Given the description of an element on the screen output the (x, y) to click on. 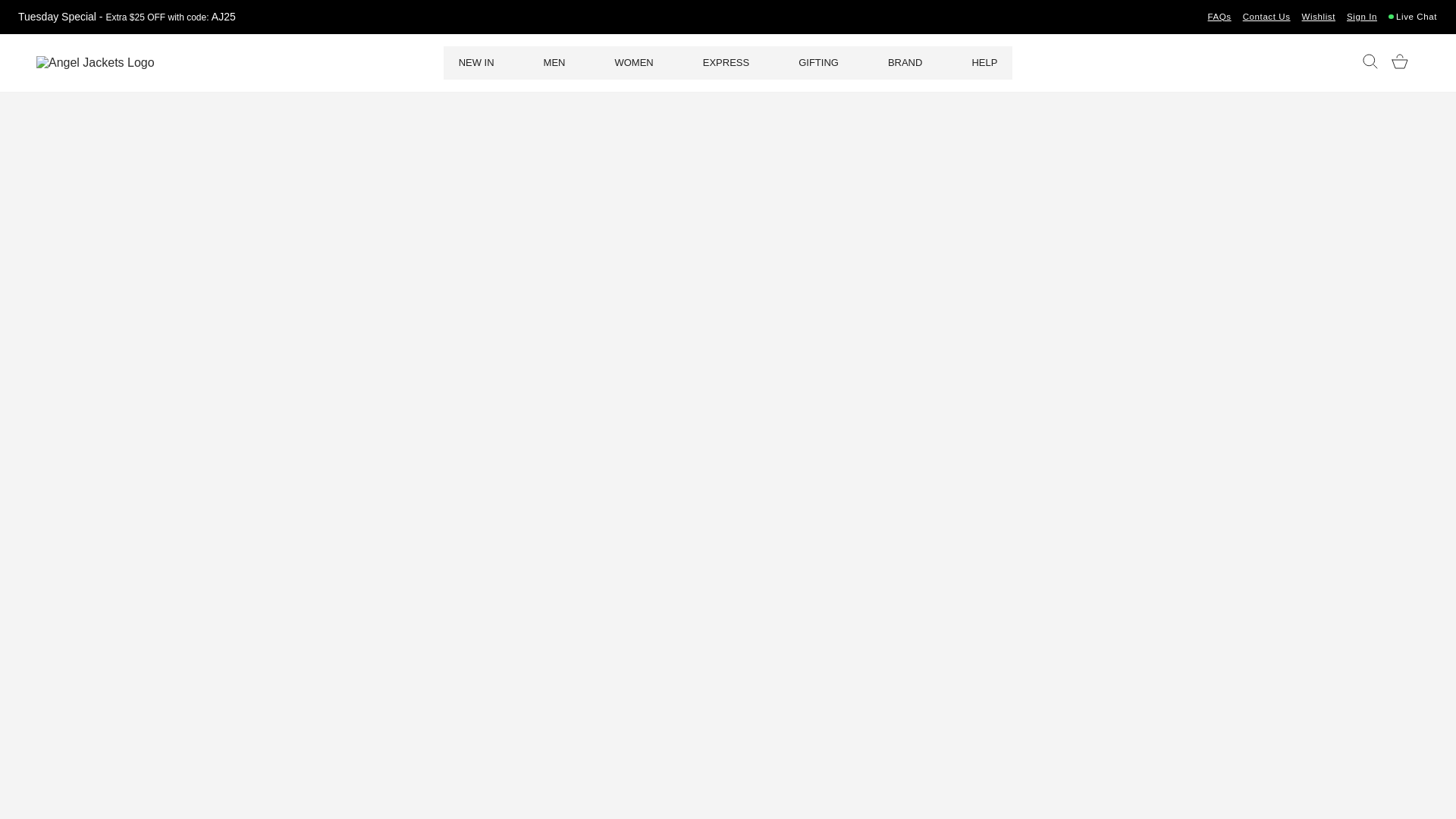
Live Chat (1416, 16)
NEW IN (476, 62)
Wishlist (1318, 16)
Contact Us (1266, 16)
MEN (554, 62)
FAQs (1219, 16)
Sign In (1361, 16)
